Given the description of an element on the screen output the (x, y) to click on. 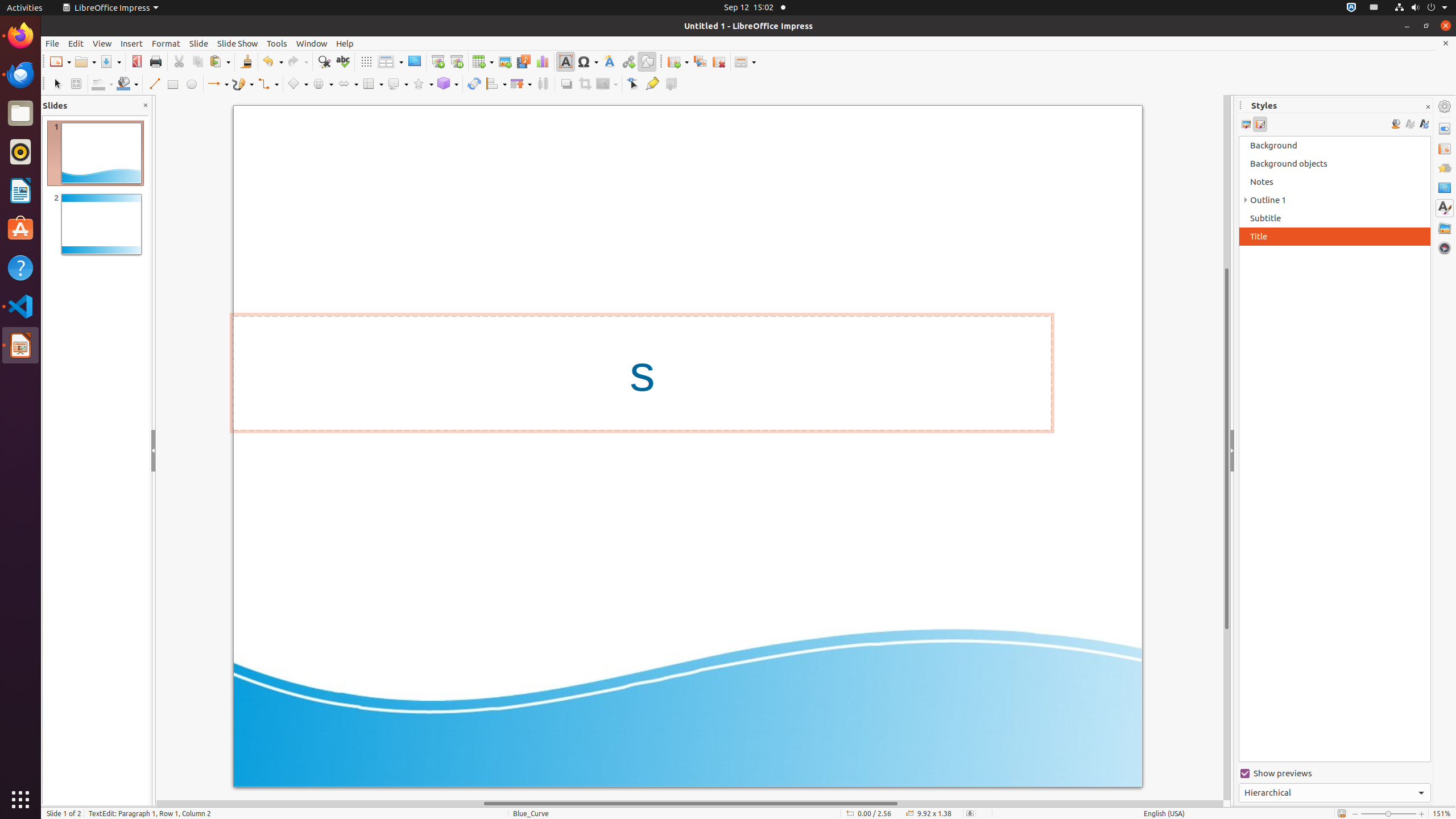
New Slide Element type: push-button (677, 61)
Chart Element type: push-button (541, 61)
Crop Element type: push-button (584, 83)
Window Element type: menu (311, 43)
